Given the description of an element on the screen output the (x, y) to click on. 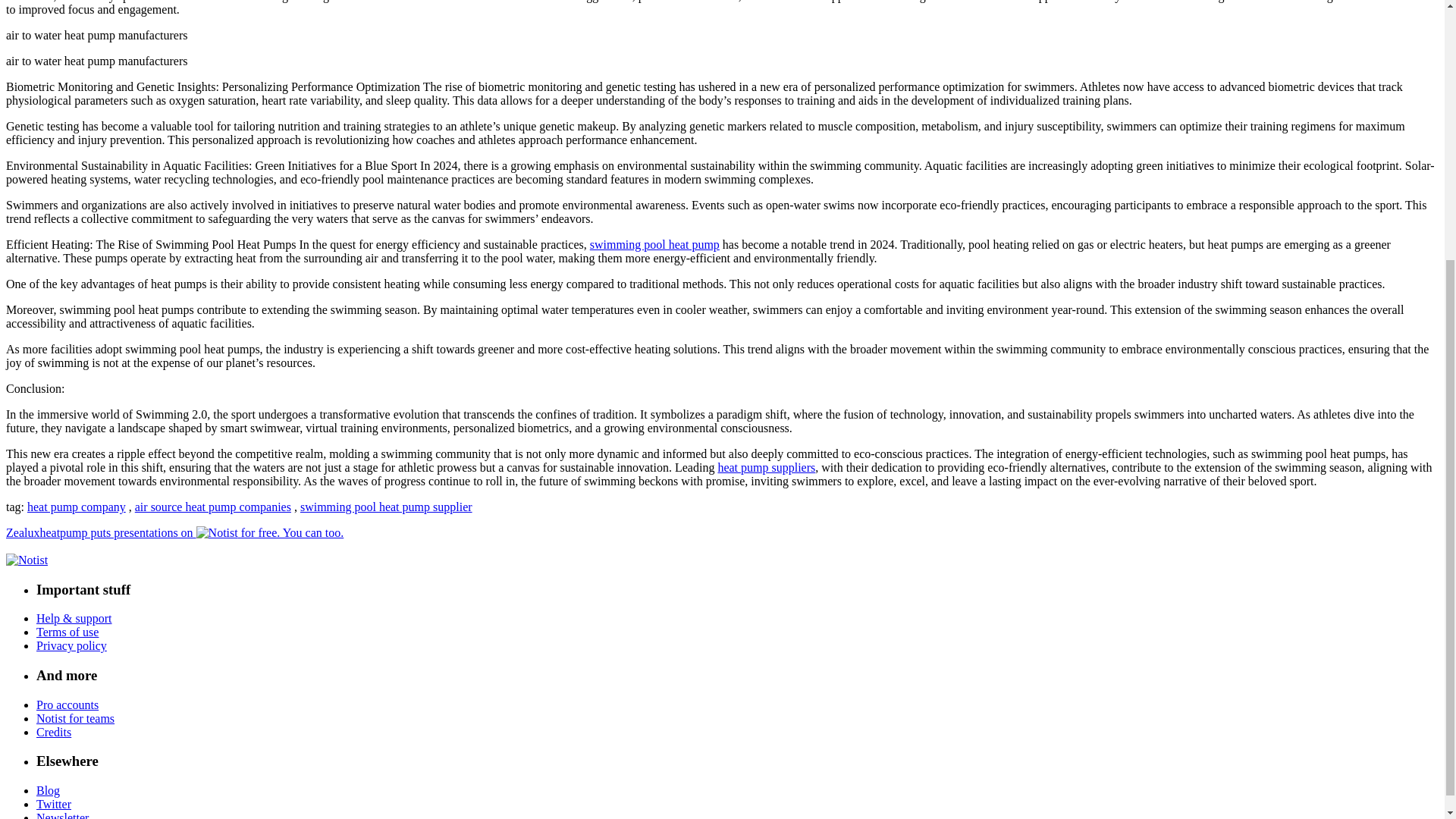
Privacy policy (71, 645)
Pro accounts (67, 704)
heat pump suppliers (766, 467)
Blog (47, 789)
heat pump company (76, 506)
Zealuxheatpump puts presentations on for free. You can too. (174, 532)
Terms of use (67, 631)
air source heat pump companies (213, 506)
Credits (53, 731)
Notist for teams (75, 717)
swimming pool heat pump (654, 244)
Twitter (53, 803)
swimming pool heat pump supplier (385, 506)
